Given the description of an element on the screen output the (x, y) to click on. 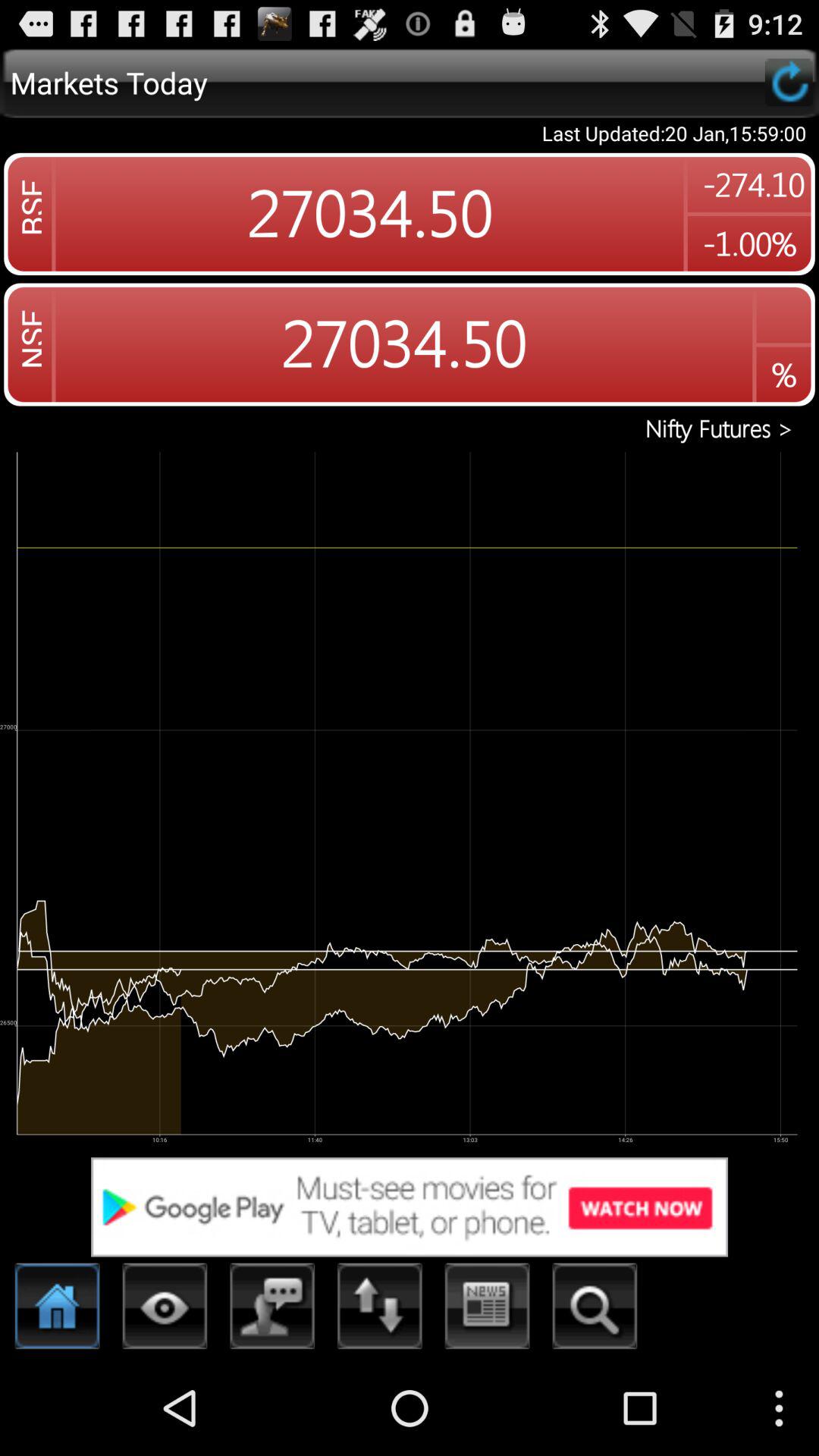
treding option (379, 1310)
